Given the description of an element on the screen output the (x, y) to click on. 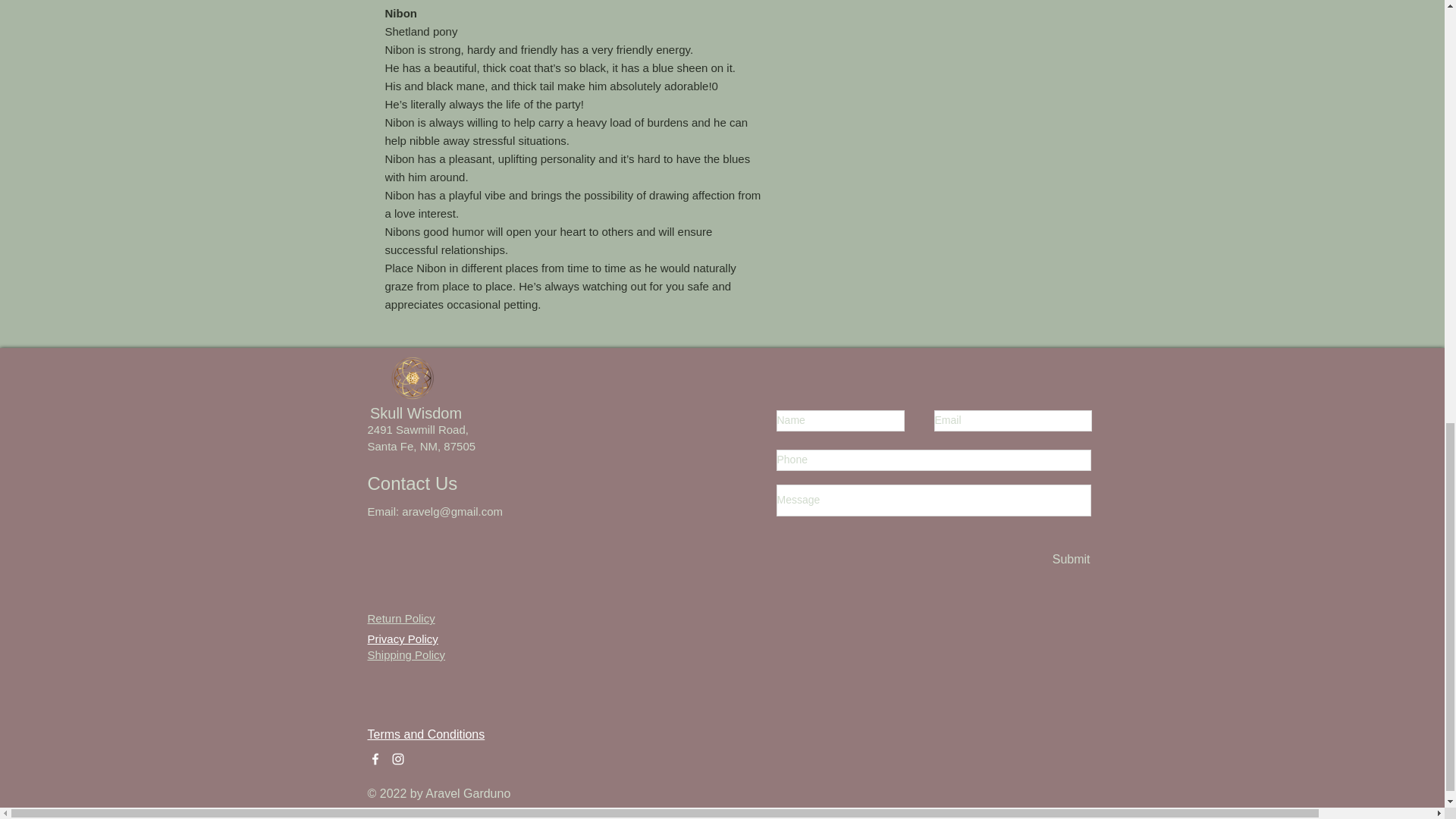
Terms and Conditions (425, 734)
Privacy Policy (402, 631)
Submit (1069, 559)
Shipping Policy (405, 654)
Return Policy (399, 617)
